Given the description of an element on the screen output the (x, y) to click on. 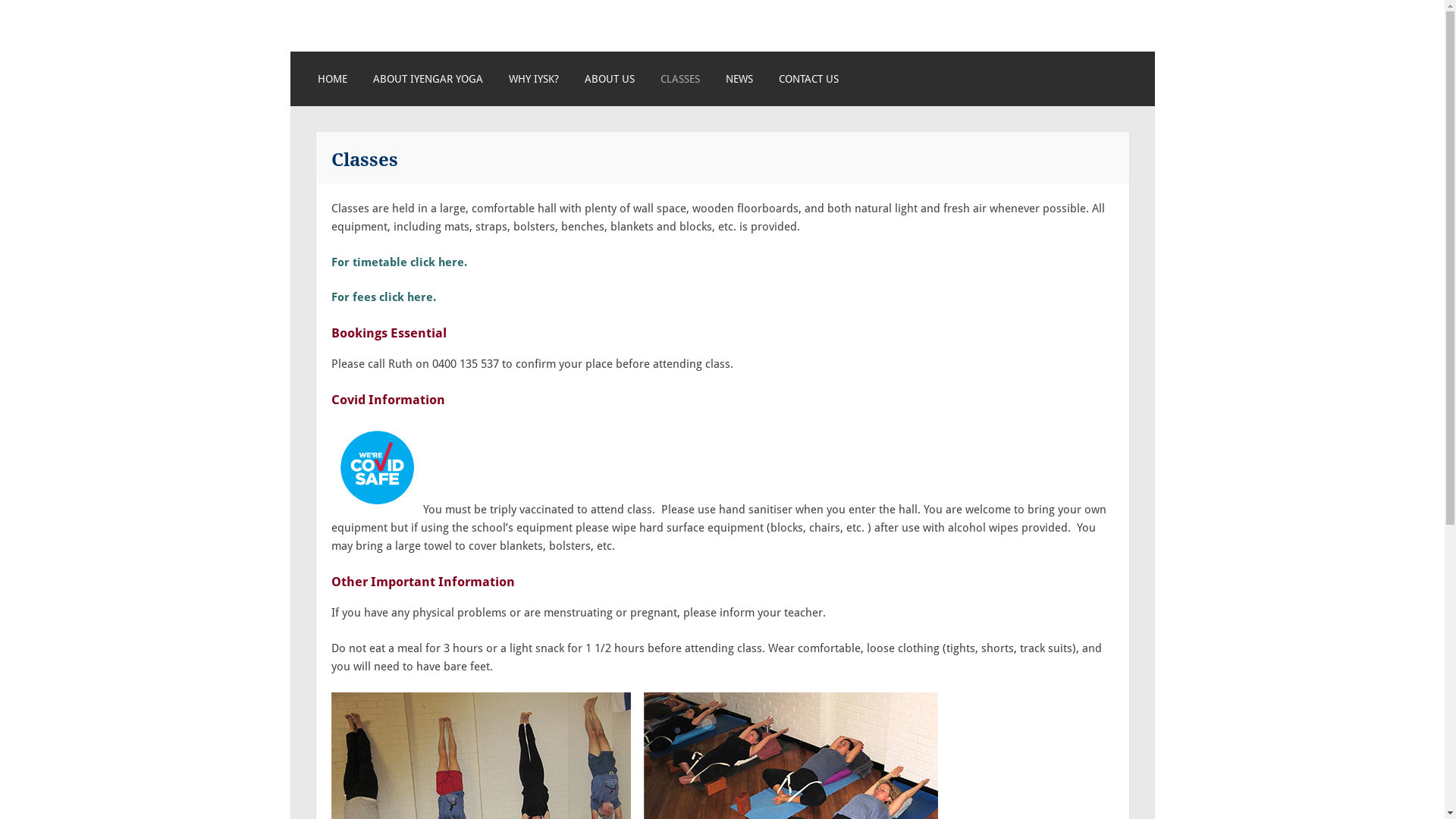
Iyengar Yoga School Ku-ring-gai Element type: text (552, 39)
ABOUT IYENGAR YOGA Element type: text (428, 78)
ABOUT US Element type: text (609, 78)
HOME Element type: text (332, 78)
For fees click here. Element type: text (382, 297)
NEWS Element type: text (739, 78)
SKIP TO CONTENT Element type: text (316, 87)
For timetable click here. Element type: text (398, 262)
WHY IYSK? Element type: text (533, 78)
CLASSES Element type: text (679, 78)
CONTACT US Element type: text (808, 78)
